Given the description of an element on the screen output the (x, y) to click on. 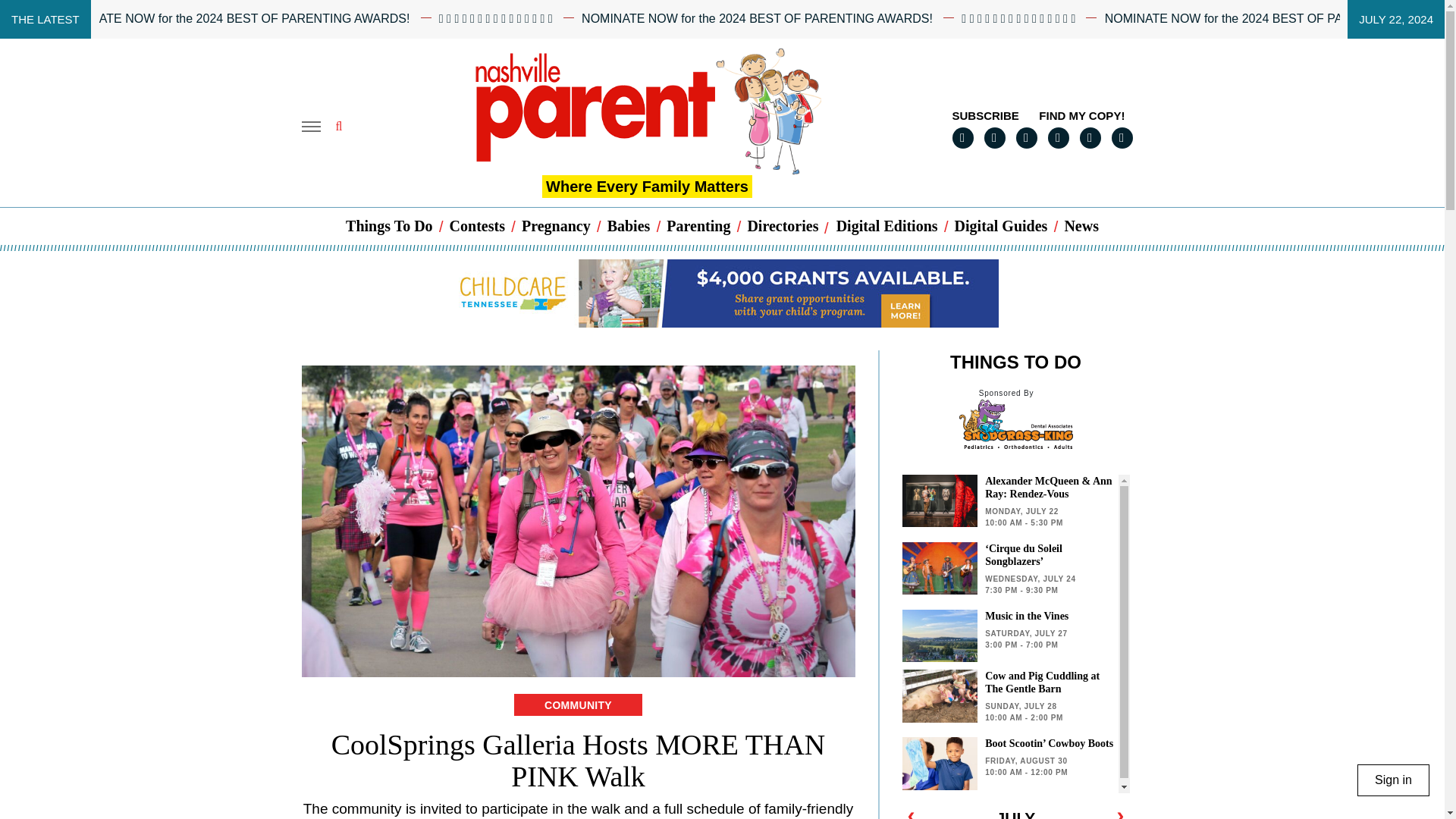
Snodgrass TTD Logo (1014, 423)
